Given the description of an element on the screen output the (x, y) to click on. 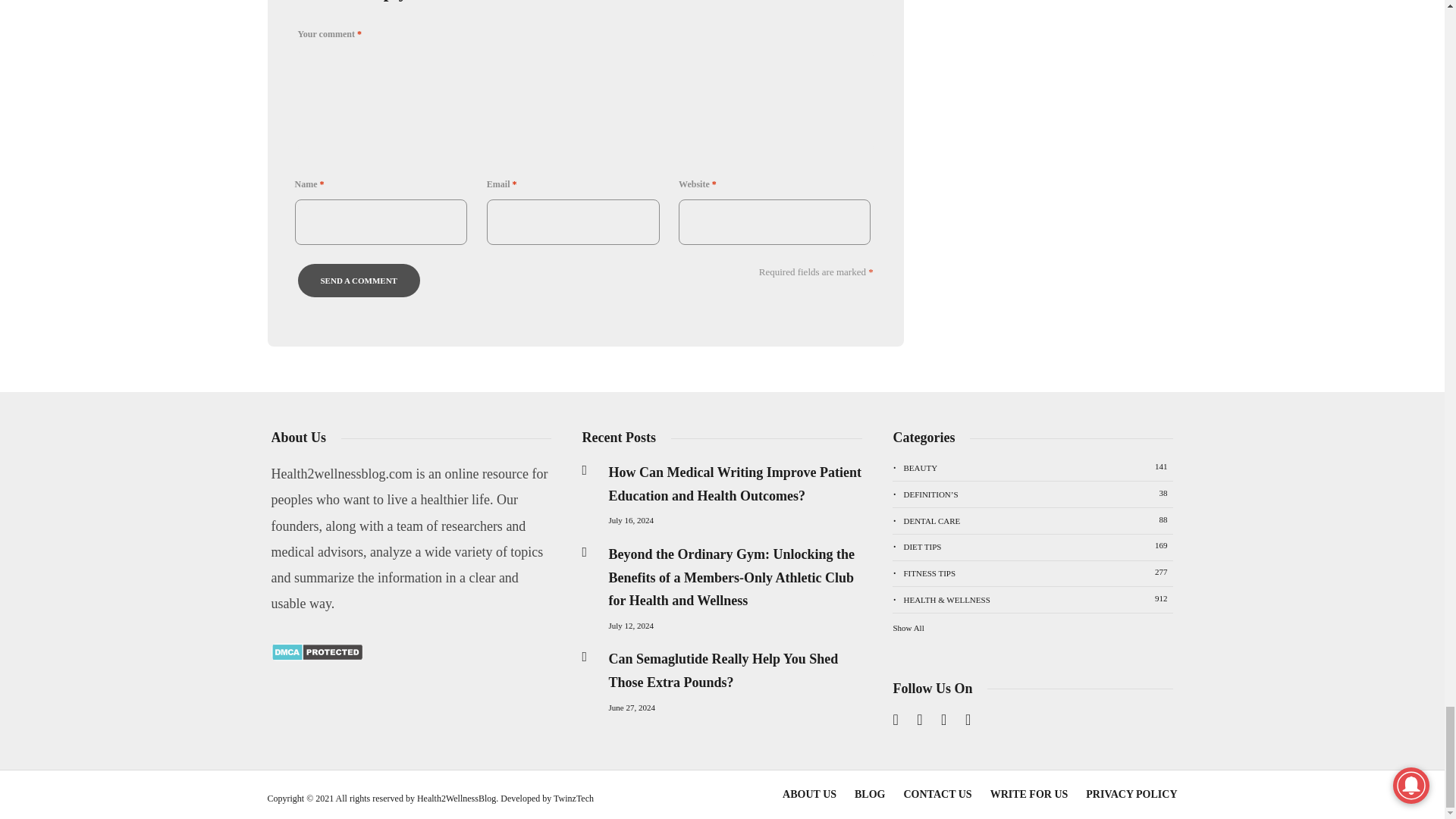
Send a comment (358, 280)
